Given the description of an element on the screen output the (x, y) to click on. 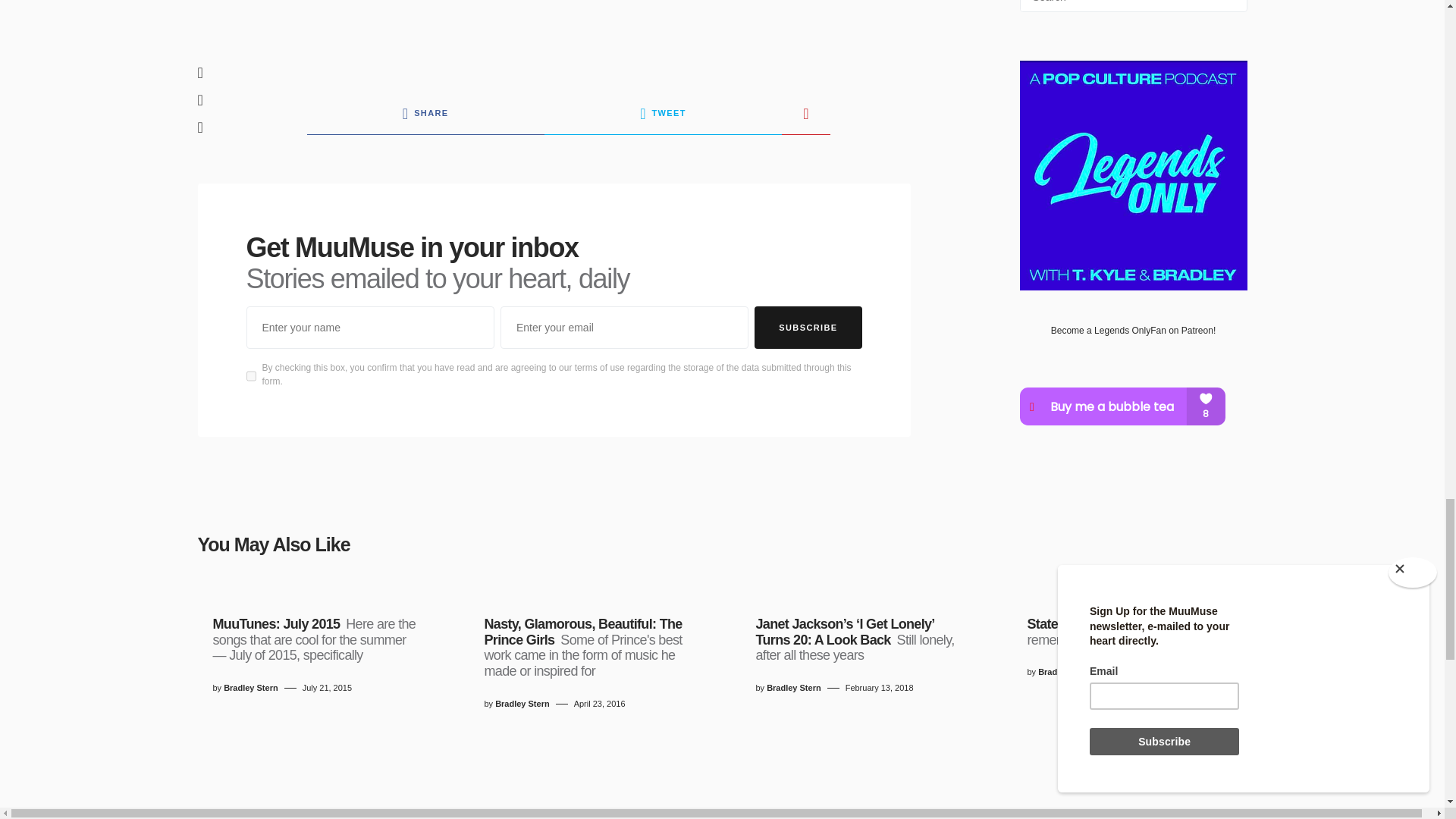
View all posts by Bradley Stern (1065, 671)
View all posts by Bradley Stern (794, 687)
View all posts by Bradley Stern (251, 687)
View all posts by Bradley Stern (522, 703)
